Given the description of an element on the screen output the (x, y) to click on. 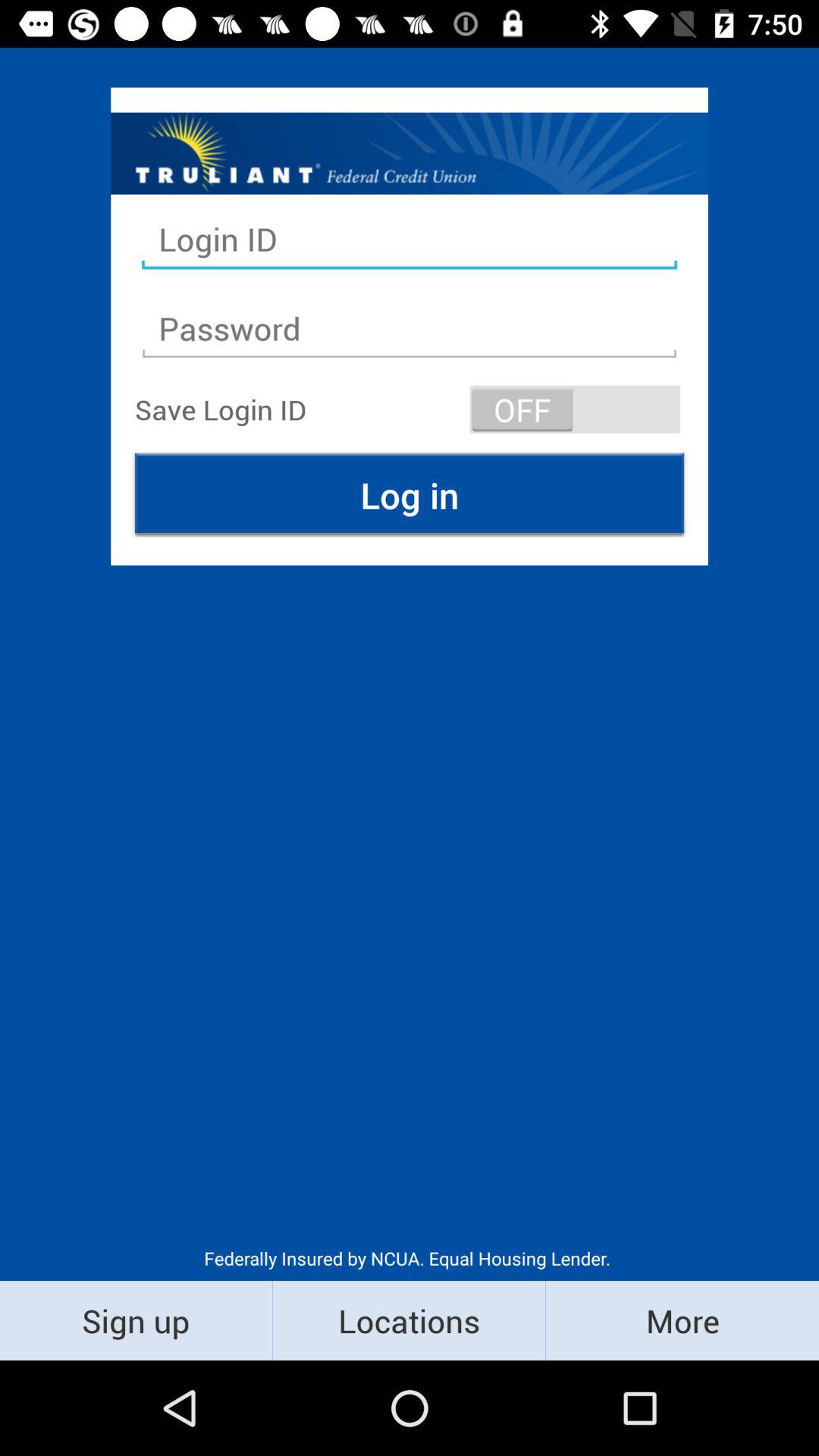
press locations item (409, 1320)
